Given the description of an element on the screen output the (x, y) to click on. 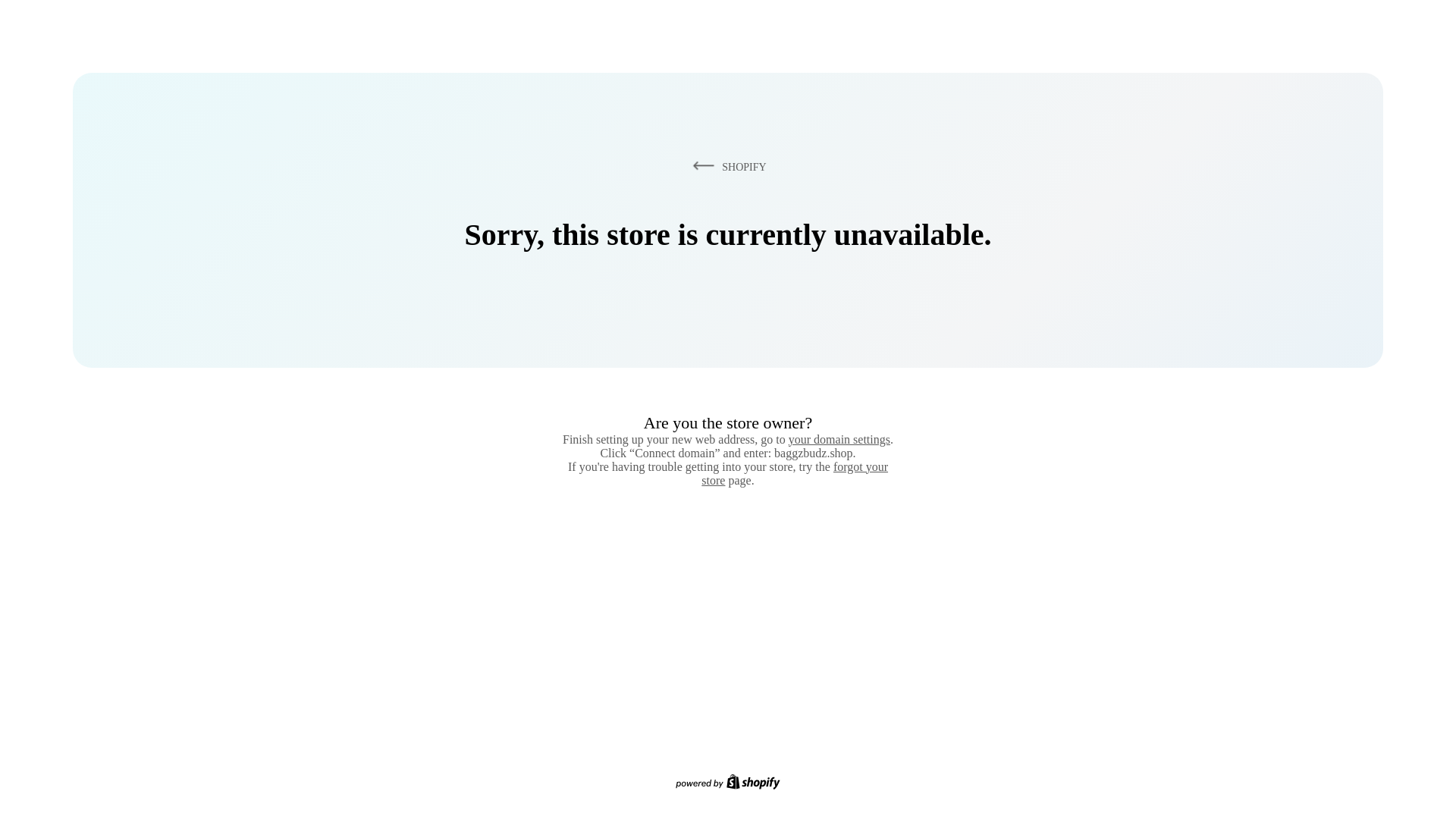
forgot your store (794, 473)
your domain settings (839, 439)
SHOPIFY (726, 166)
